Given the description of an element on the screen output the (x, y) to click on. 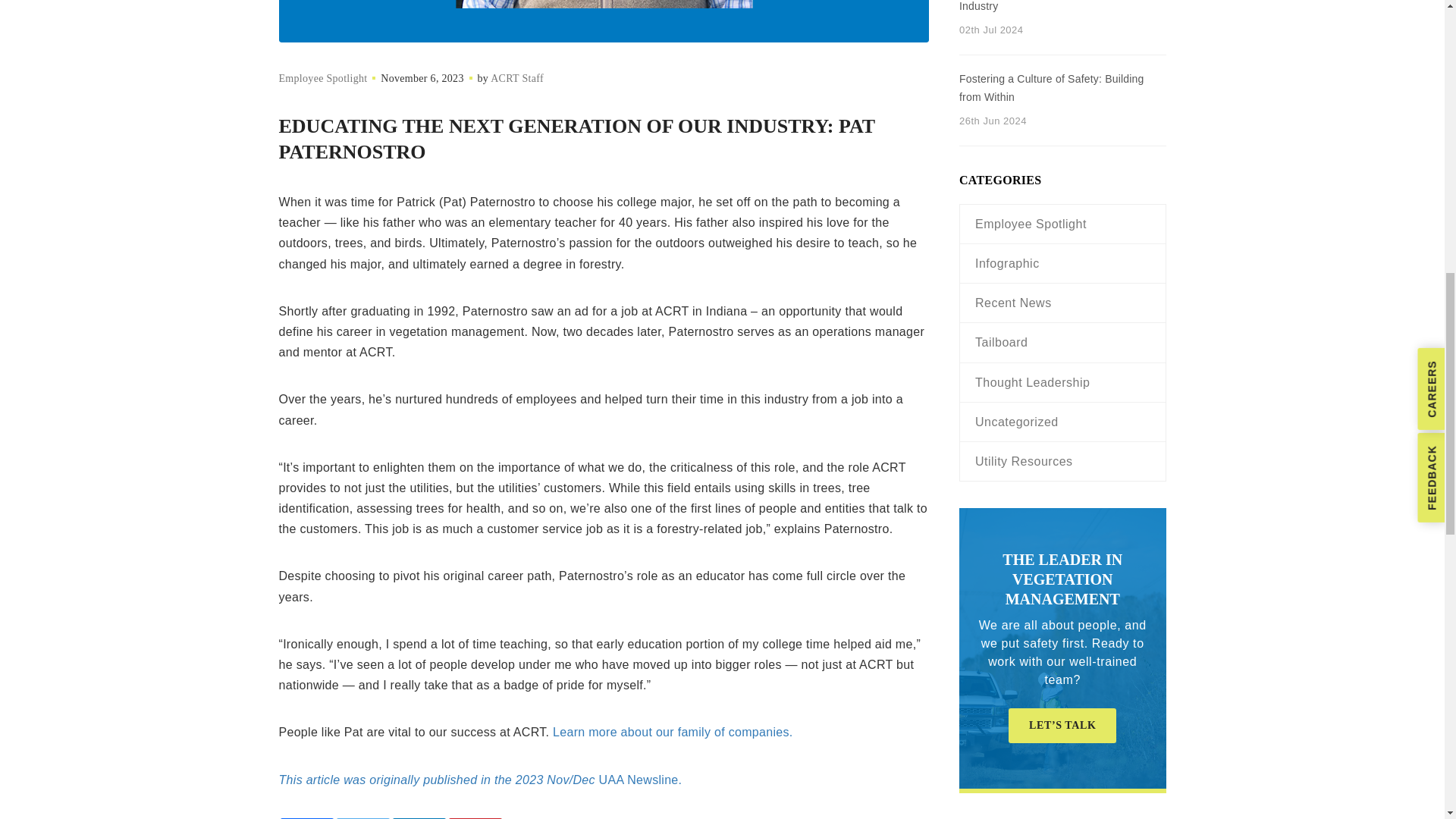
Pinterest (475, 818)
Linkedin (419, 818)
Twitter (363, 818)
Facebook (307, 818)
